Given the description of an element on the screen output the (x, y) to click on. 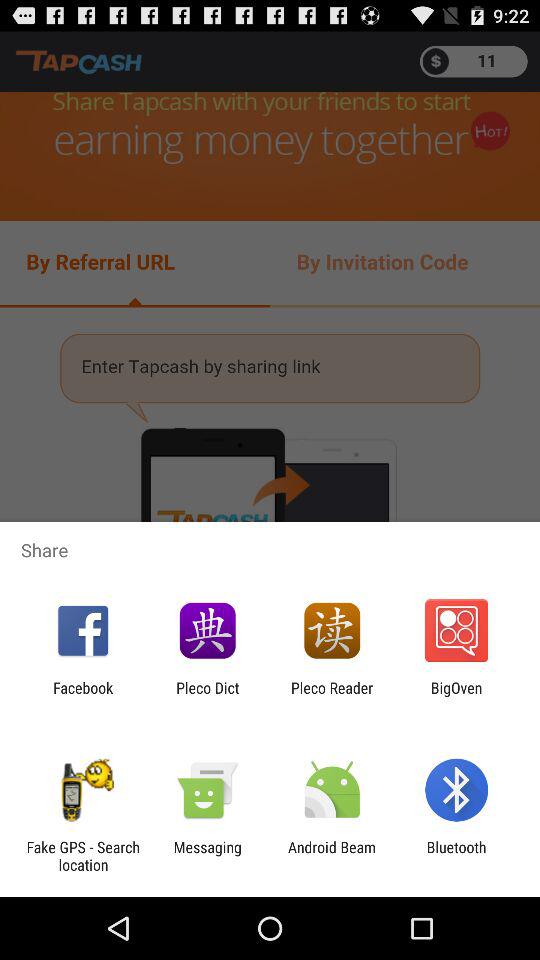
click the icon next to pleco reader icon (207, 696)
